Given the description of an element on the screen output the (x, y) to click on. 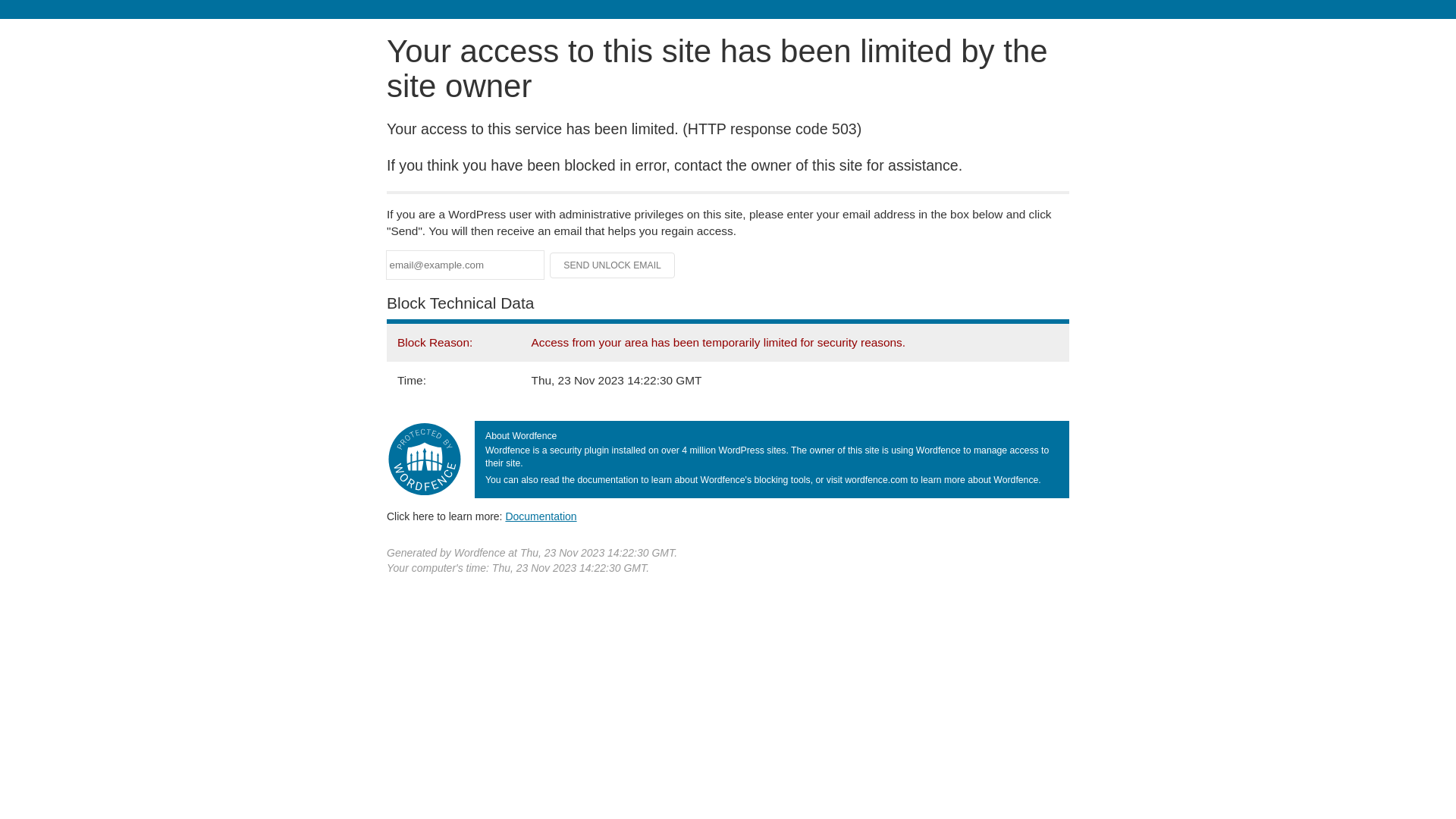
Documentation Element type: text (540, 516)
Send Unlock Email Element type: text (612, 265)
